Given the description of an element on the screen output the (x, y) to click on. 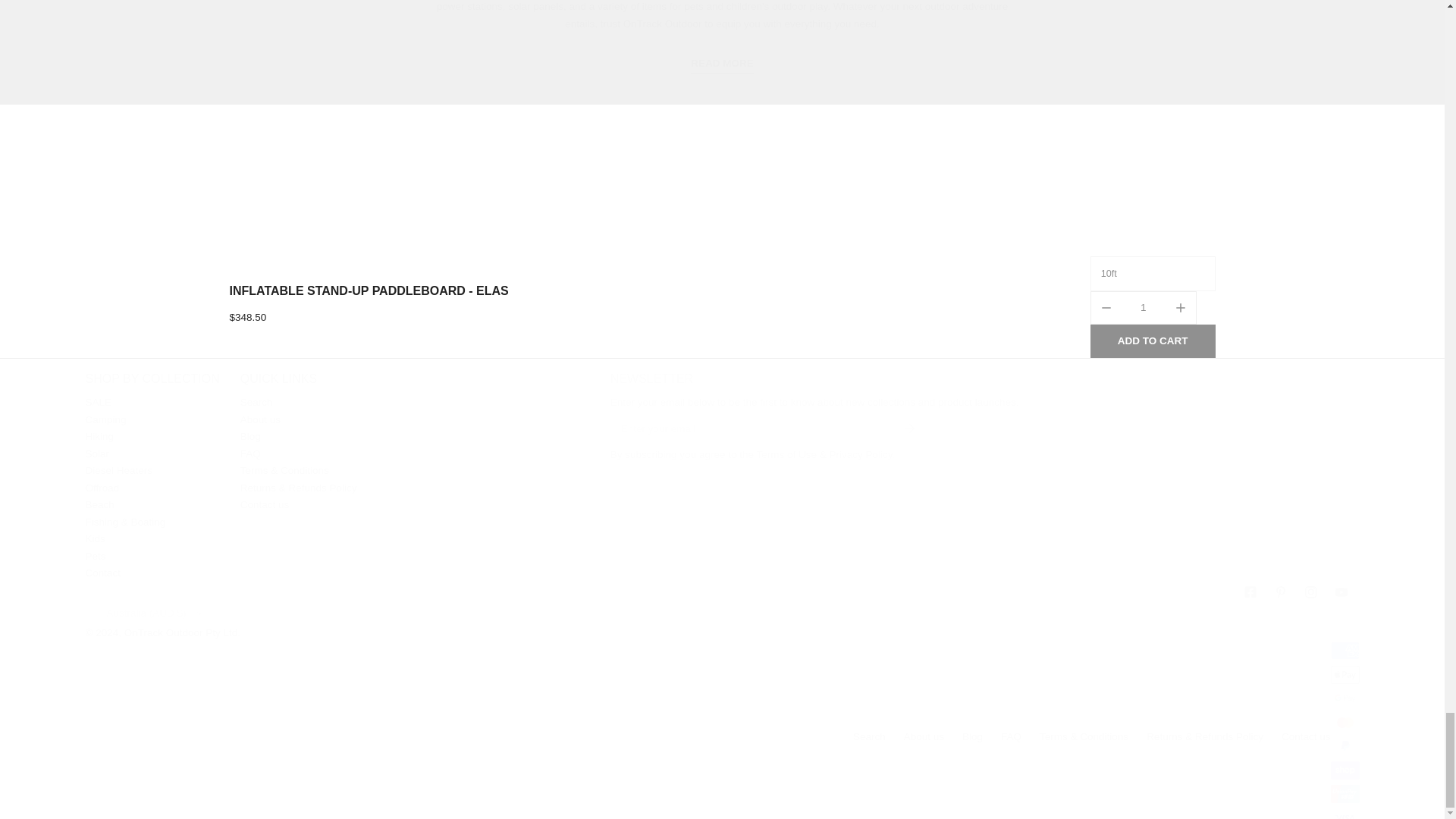
Facebook (1252, 591)
YouTube (1342, 591)
READ MORE (722, 63)
Pinterest (1283, 591)
1 (1143, 307)
Instagram (1312, 591)
